Given the description of an element on the screen output the (x, y) to click on. 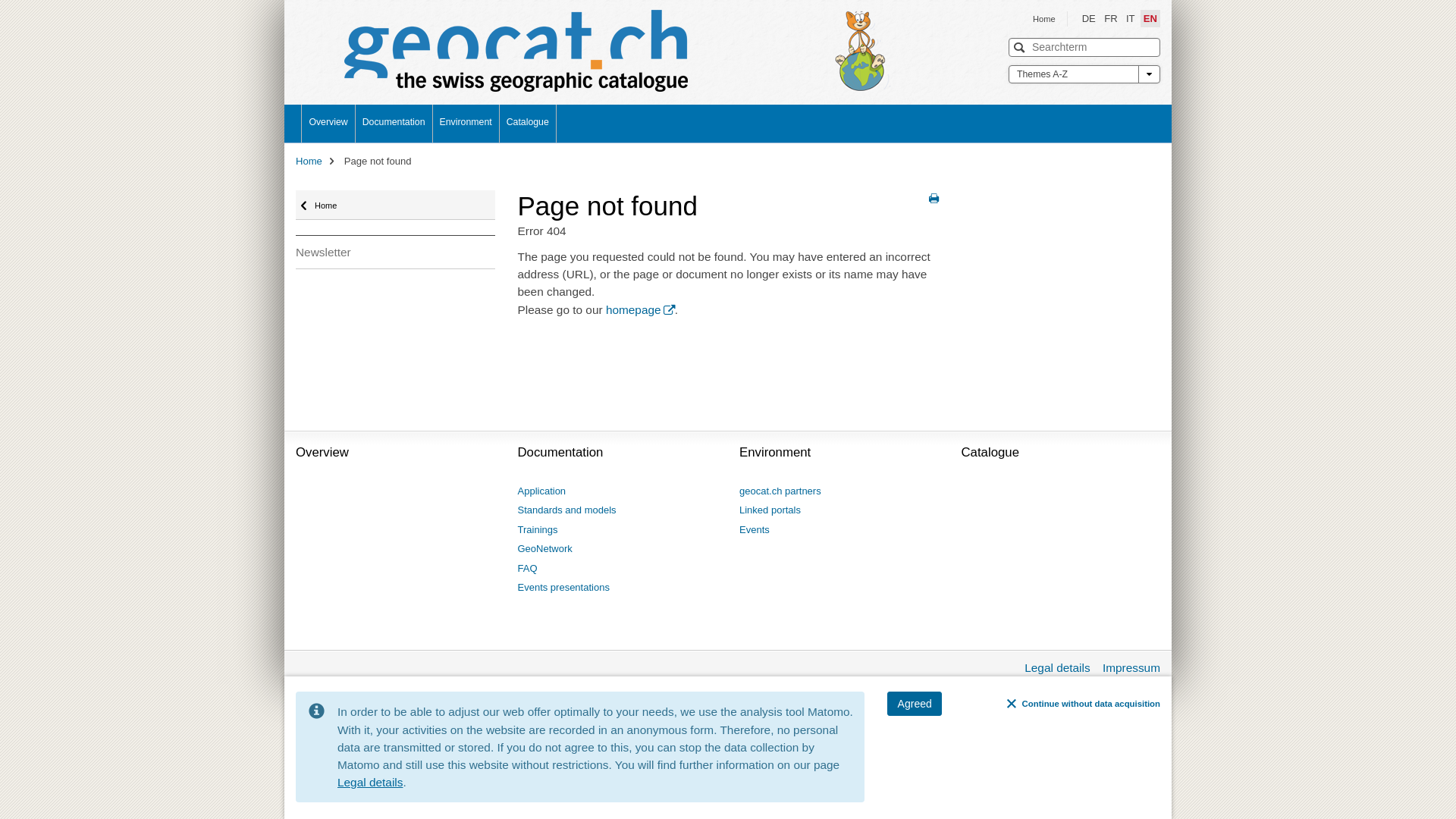
FAQ Element type: text (526, 568)
Back
Home Element type: text (395, 204)
DE Element type: text (1088, 18)
Legal details Element type: text (369, 781)
Catalogue Element type: text (527, 123)
Legal details Element type: text (1056, 667)
print preview Element type: text (933, 198)
Events Element type: text (754, 529)
GeoNetwork Element type: text (544, 548)
Trainings Element type: text (537, 529)
FR Element type: text (1110, 18)
Environment Element type: text (465, 123)
Overview Element type: text (327, 123)
Themes A-Z Element type: text (1084, 74)
Newsletter Element type: text (395, 251)
IT Element type: text (1130, 18)
Home Element type: text (1043, 18)
Impressum Element type: text (1131, 667)
Standards and models Element type: text (566, 510)
Application Element type: text (541, 491)
Events presentations Element type: text (562, 587)
Clear Element type: text (1147, 46)
geocat.ch partners Element type: text (780, 491)
Documentation Element type: text (393, 123)
Agreed Element type: text (914, 703)
Linked portals Element type: text (769, 510)
homepage Element type: text (639, 309)
Home Element type: text (308, 160)
EN
selected Element type: text (1150, 18)
